Given the description of an element on the screen output the (x, y) to click on. 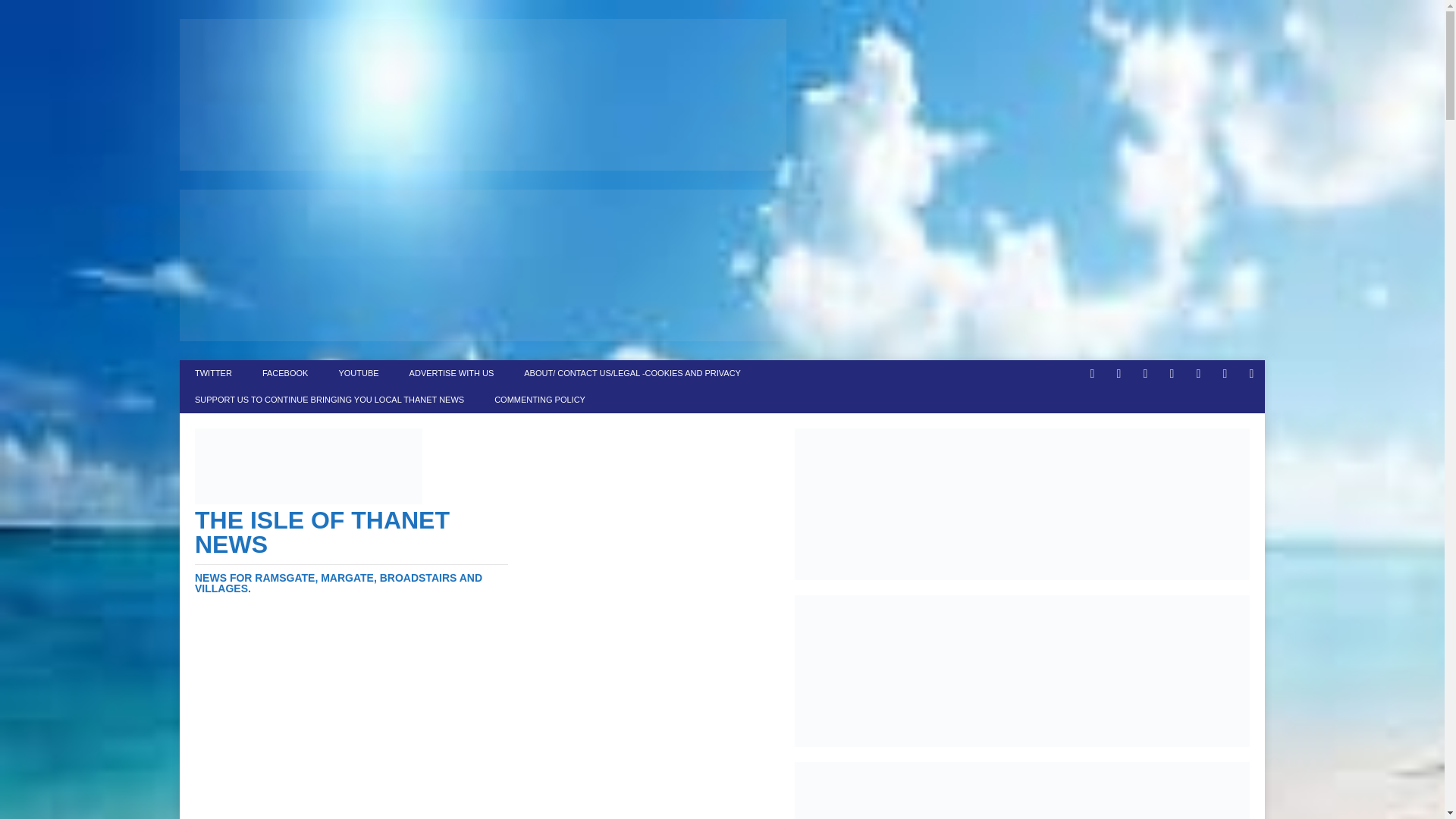
ADVERTISE WITH US (451, 373)
COMMENTING POLICY (539, 399)
The Isle Of Thanet News (351, 491)
YOUTUBE (358, 373)
SUPPORT US TO CONTINUE BRINGING YOU LOCAL THANET NEWS (329, 399)
FACEBOOK (285, 373)
TWITTER (213, 373)
